Given the description of an element on the screen output the (x, y) to click on. 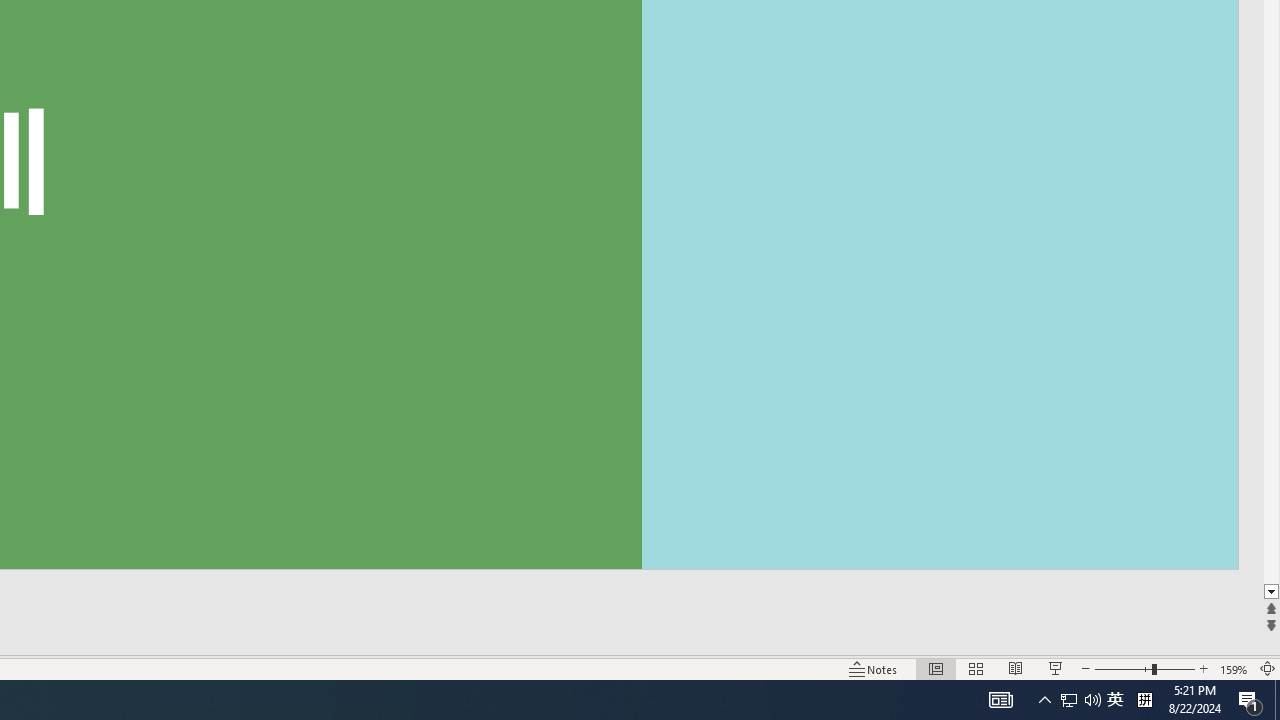
Zoom 159% (1234, 668)
